Given the description of an element on the screen output the (x, y) to click on. 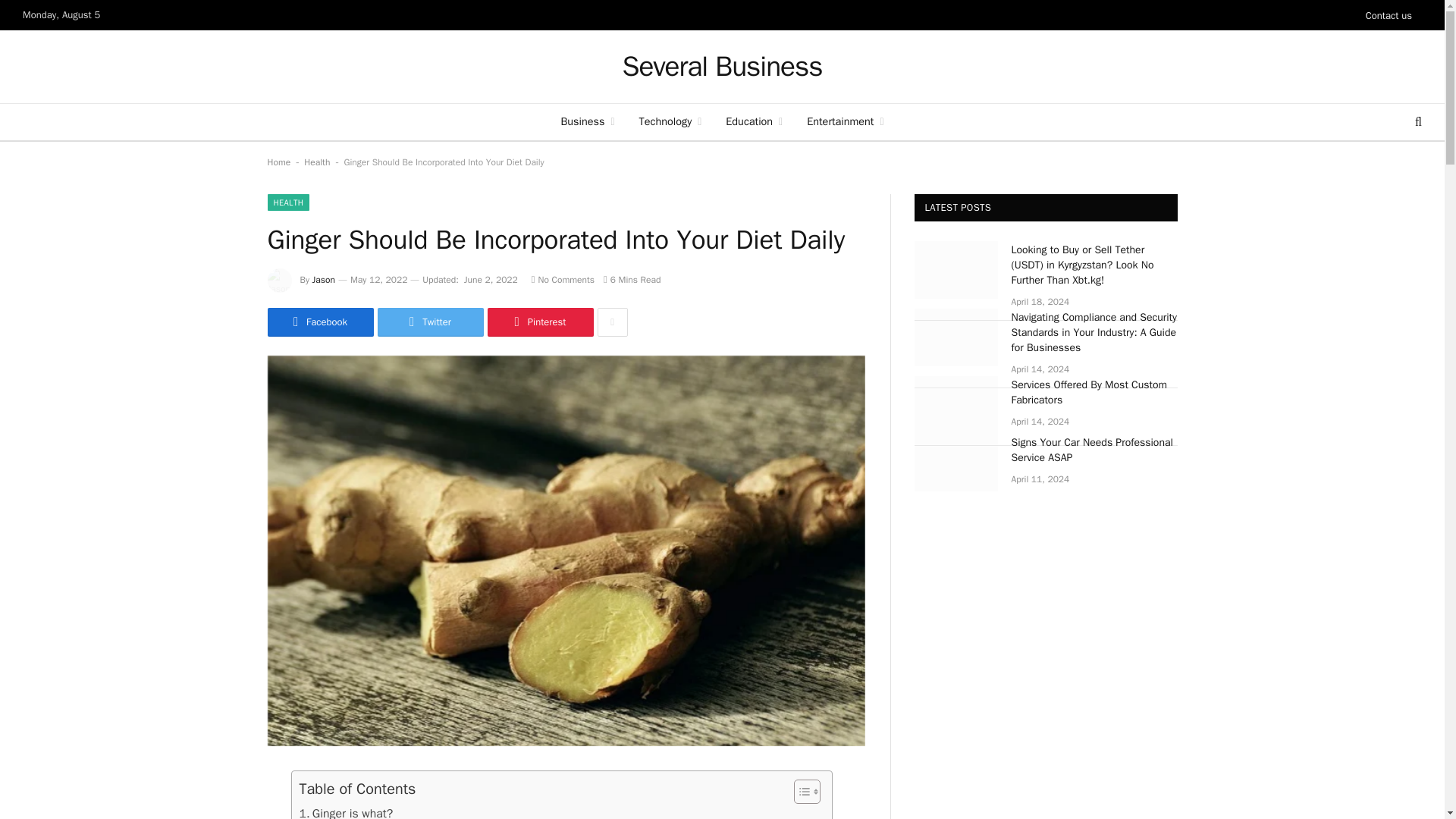
Education (753, 122)
Share on Facebook (319, 321)
Show More Social Sharing (611, 321)
Posts by Jason (323, 279)
Twitter (430, 321)
Facebook (319, 321)
Several Business (721, 66)
Technology (670, 122)
No Comments (562, 279)
Home (277, 162)
Several Business (721, 66)
Jason (323, 279)
Entertainment (844, 122)
Share on Pinterest (539, 321)
